Given the description of an element on the screen output the (x, y) to click on. 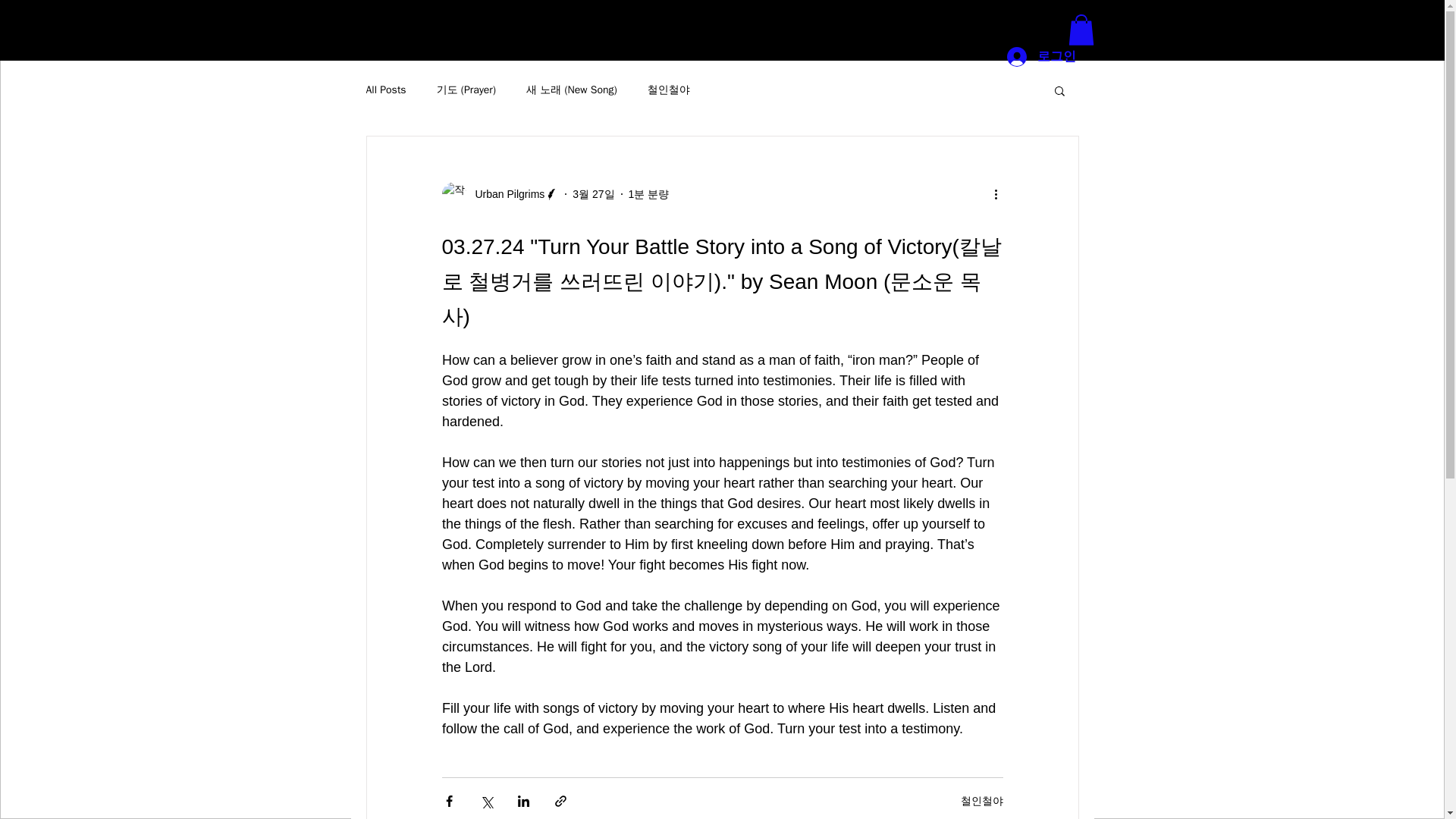
Urban Pilgrims (504, 194)
Urban Pilgrims (500, 193)
All Posts (385, 90)
